Given the description of an element on the screen output the (x, y) to click on. 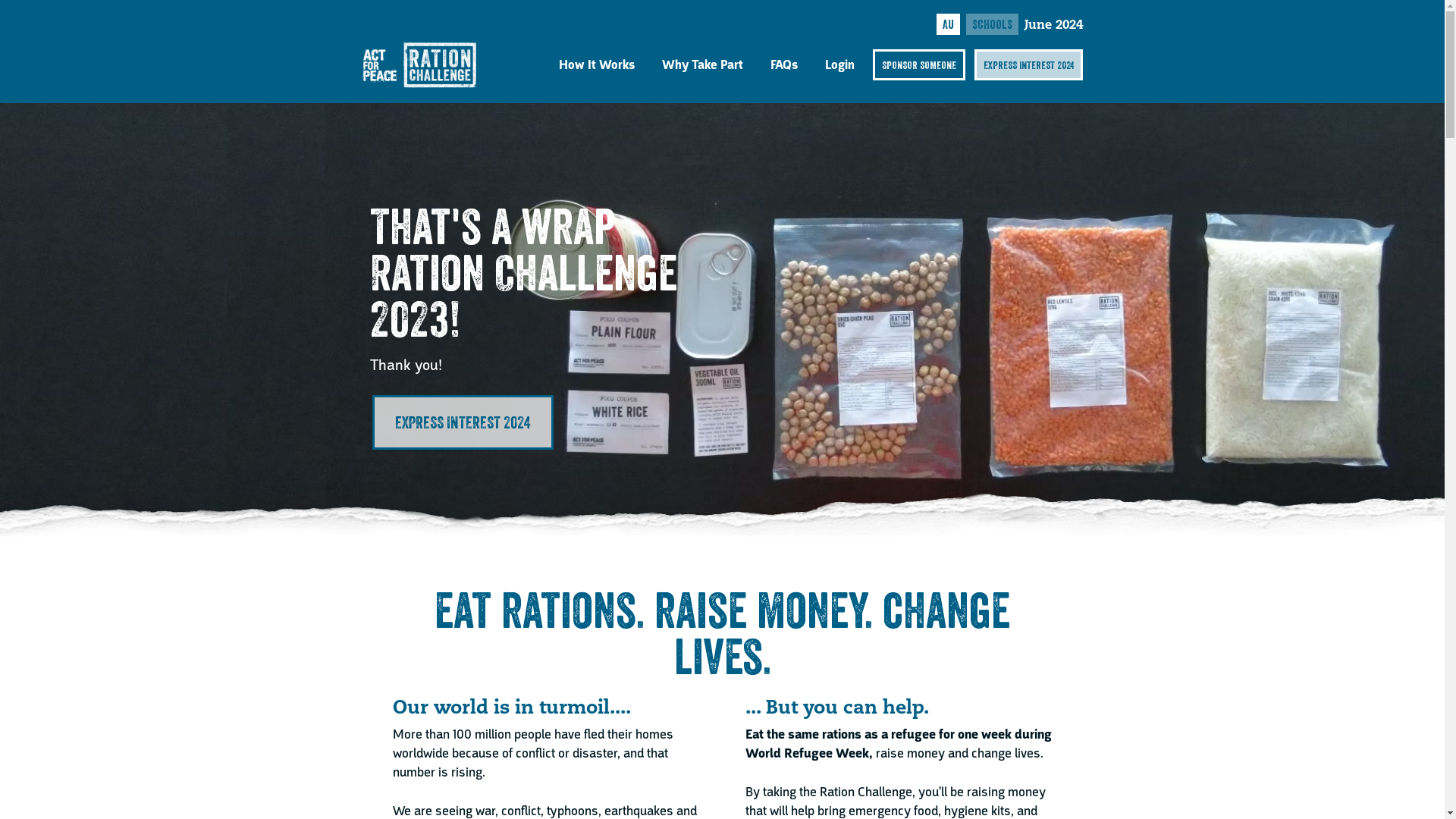
EXPRESS INTEREST 2024 Element type: text (462, 422)
EXPRESS INTEREST 2024 Element type: text (1028, 64)
SPONSOR SOMEONE Element type: text (918, 64)
Login Element type: text (839, 64)
How It Works Element type: text (596, 64)
SCHOOLS Element type: text (992, 23)
FAQs Element type: text (783, 64)
Why Take Part Element type: text (702, 64)
